Given the description of an element on the screen output the (x, y) to click on. 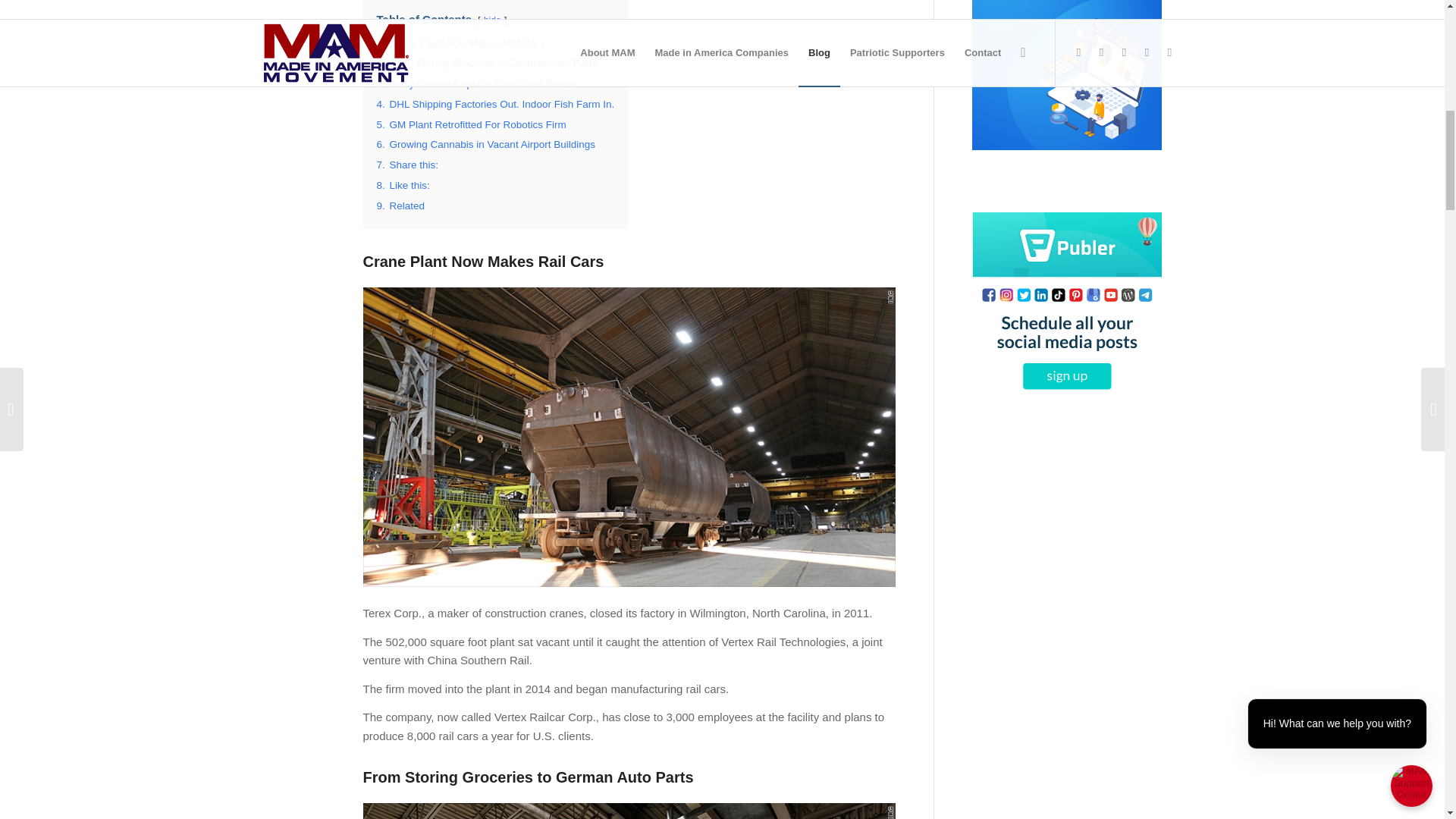
8. Like this: (402, 184)
hide (491, 20)
1. Crane Plant Now Makes Rail Cars (459, 43)
6. Growing Cannabis in Vacant Airport Buildings (484, 143)
9. Related (400, 205)
4. DHL Shipping Factories Out. Indoor Fish Farm In. (494, 103)
2. From Storing Groceries to German Auto Parts (485, 62)
5. GM Plant Retrofitted For Robotics Firm (470, 124)
7. Share this: (406, 164)
3. Leafy Greens Replace Cardboard Boxes (474, 83)
